Given the description of an element on the screen output the (x, y) to click on. 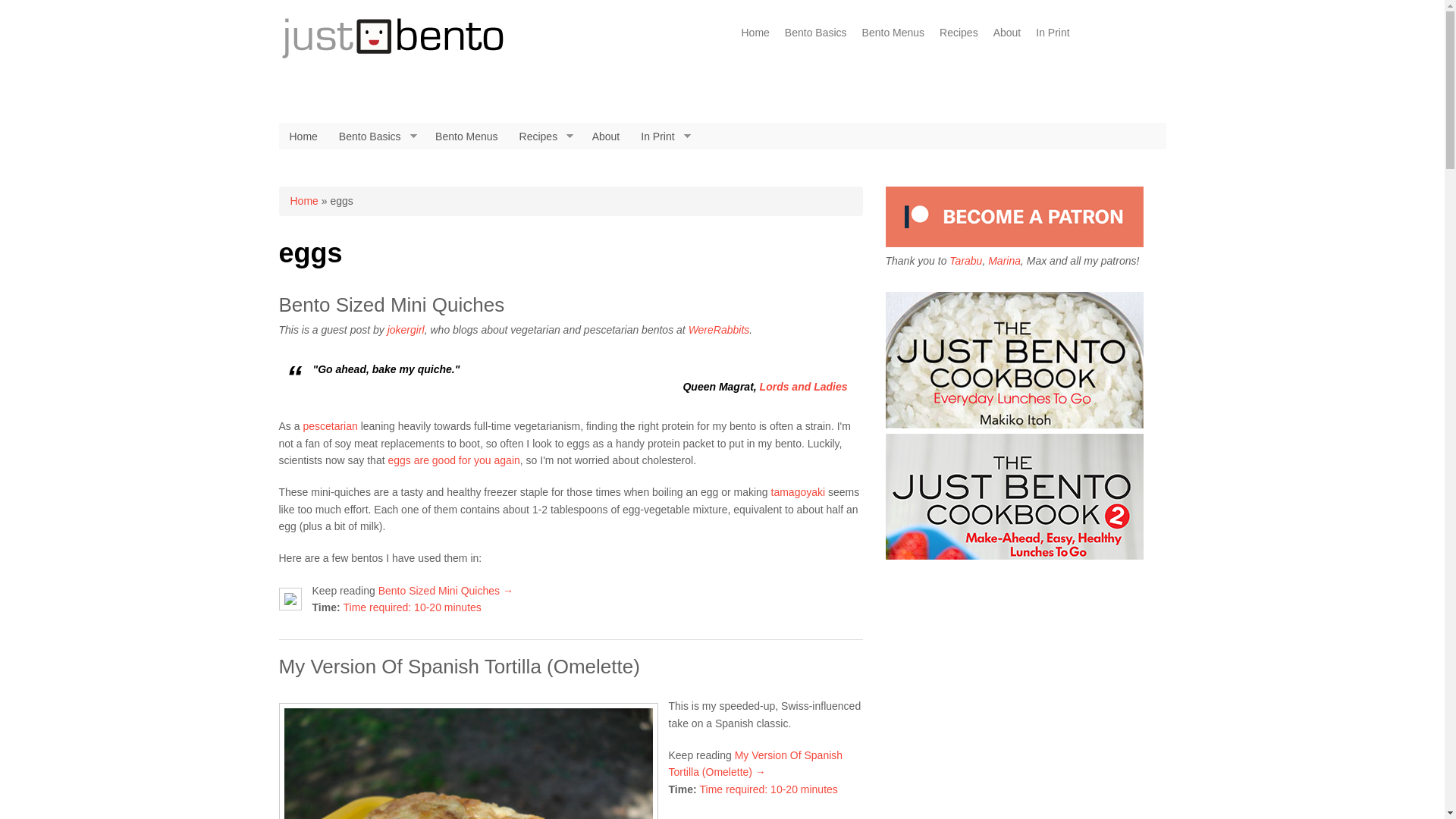
Bento-friendly recipes (544, 135)
Recipes (958, 32)
Bento-friendly recipes (958, 32)
tamagoyaki (798, 491)
Examples of complete packed bentos, or bento menus. (893, 32)
jokergirl (406, 329)
Bento Menus (466, 135)
About (605, 135)
WereRabbits (718, 329)
Bento Menus (893, 32)
About the JustBento site (605, 135)
In Print (1052, 32)
Examples of complete packed bentos, or bento menus. (466, 135)
Home (304, 135)
Lords and Ladies (803, 386)
